Given the description of an element on the screen output the (x, y) to click on. 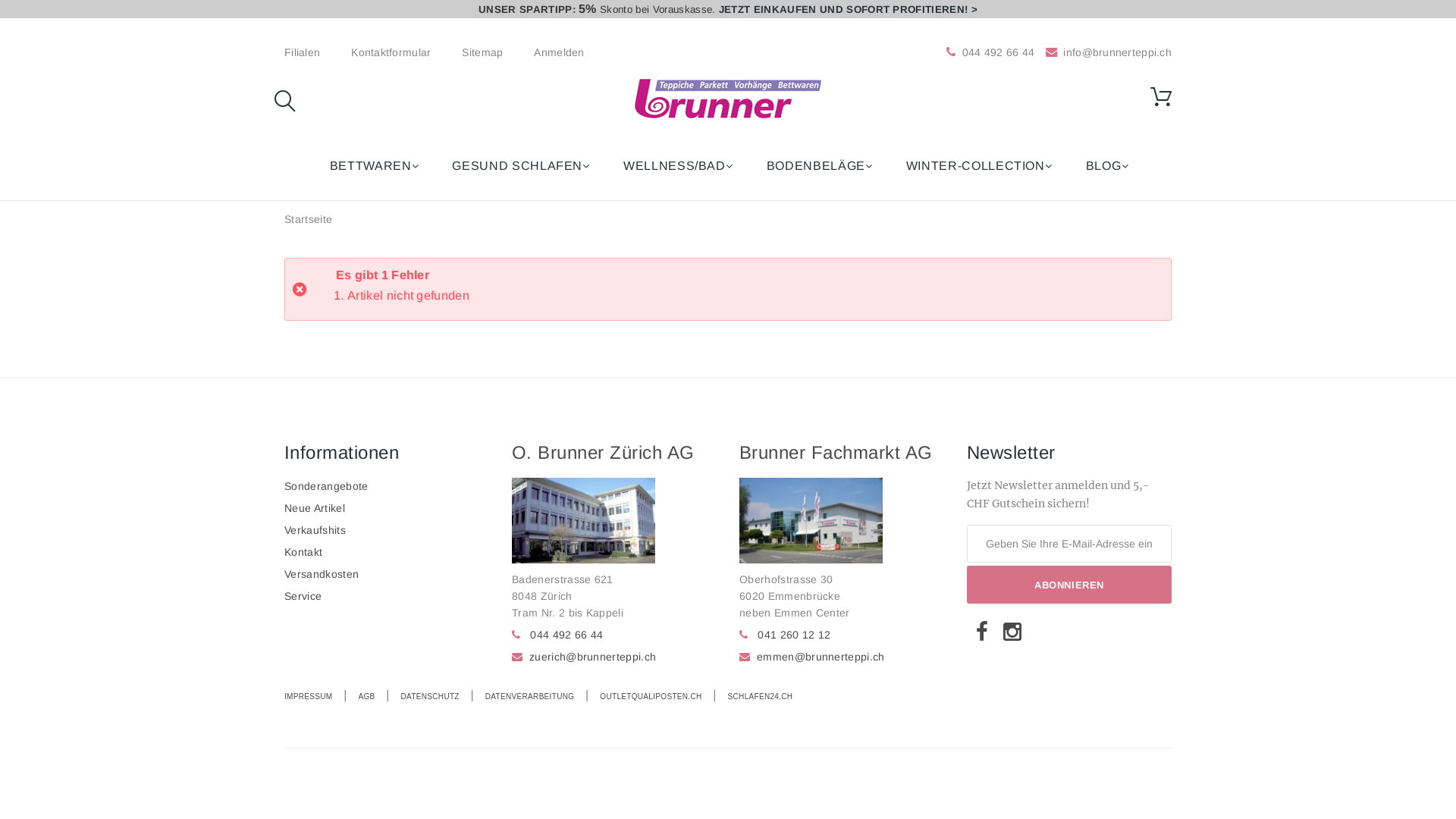
ABONNIEREN Element type: text (1068, 584)
Sonderangebote Element type: text (325, 486)
Versandkosten Element type: text (321, 573)
GESUND SCHLAFEN Element type: text (519, 165)
IMPRESSUM Element type: text (311, 696)
Anmelden Element type: text (558, 52)
DATENSCHUTZ Element type: text (430, 696)
Sitemap Element type: text (481, 52)
BETTWAREN Element type: text (373, 165)
044 492 66 44 Element type: text (998, 52)
Bettwarenshop - brunnerteppi.ch Element type: hover (727, 98)
Zum Warenkorb Element type: hover (1160, 96)
Service Element type: text (302, 595)
JETZT EINKAUFEN UND SOFORT PROFITIEREN! > Element type: text (847, 9)
zuerich@brunnerteppi.ch Element type: text (592, 656)
BLOG Element type: text (1106, 165)
DATENVERARBEITUNG Element type: text (529, 696)
Filialen Element type: text (302, 52)
Startseite Element type: text (308, 219)
WELLNESS/BAD Element type: text (677, 165)
Verkaufshits Element type: text (314, 530)
041 260 12 12 Element type: text (793, 634)
emmen@brunnerteppi.ch Element type: text (820, 656)
Facebook Element type: hover (981, 630)
Brunner Fachmarkt AG Element type: text (835, 452)
AGB Element type: text (366, 696)
OUTLETQUALIPOSTEN.CH Element type: text (650, 696)
Kontaktformular Element type: text (390, 52)
  info@brunnerteppi.ch Element type: text (1106, 52)
Kontakt Element type: text (303, 552)
WINTER-COLLECTION Element type: text (977, 165)
SCHLAFEN24.CH Element type: text (760, 696)
Neue Artikel Element type: text (314, 508)
044 492 66 44 Element type: text (566, 634)
